Given the description of an element on the screen output the (x, y) to click on. 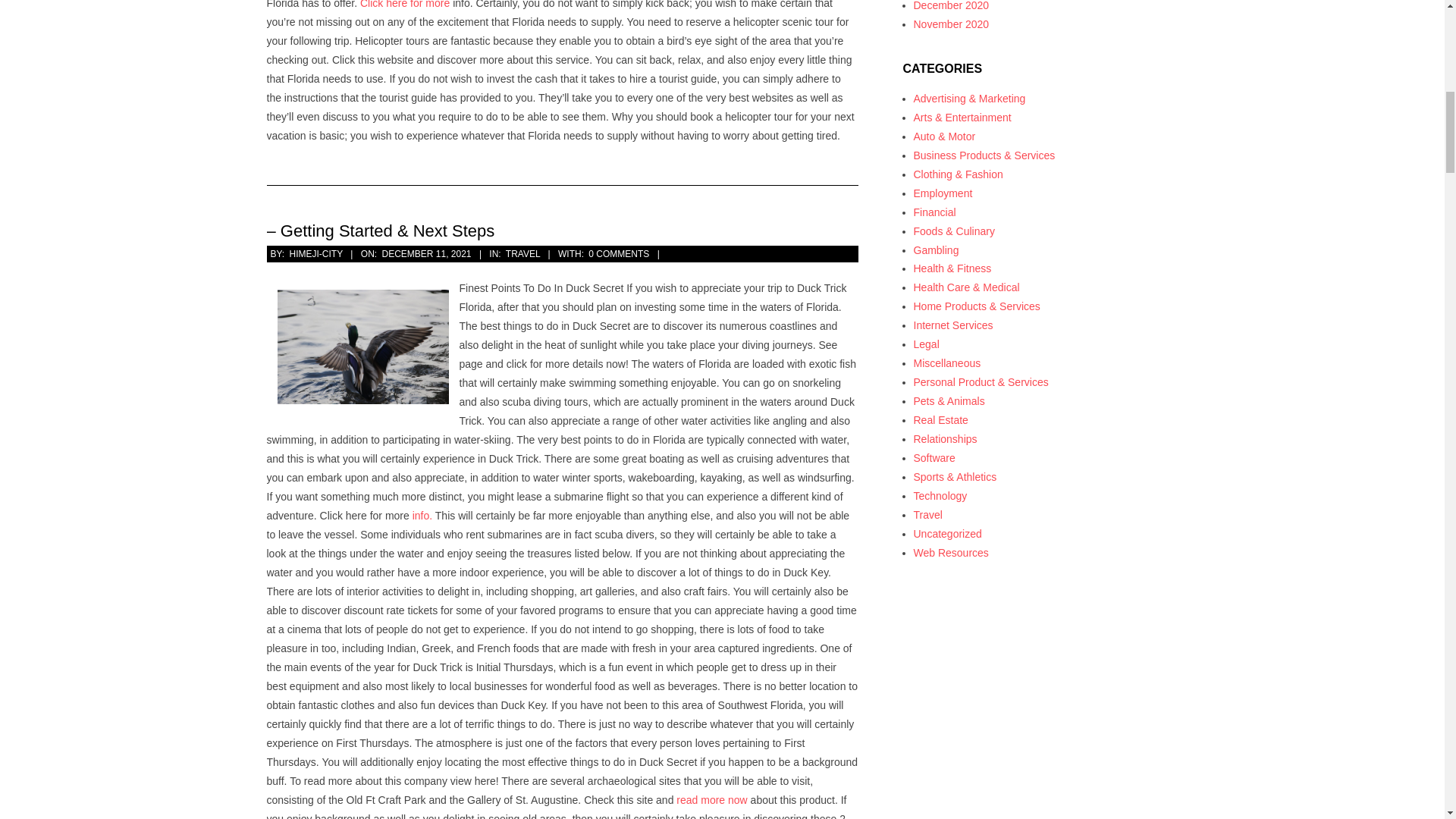
Saturday, December 11, 2021, 9:11 am (425, 253)
read more now (711, 799)
TRAVEL (522, 253)
Click here for more (404, 4)
0 COMMENTS (618, 253)
Posts by himeji-city (315, 253)
HIMEJI-CITY (315, 253)
info. (422, 515)
